Given the description of an element on the screen output the (x, y) to click on. 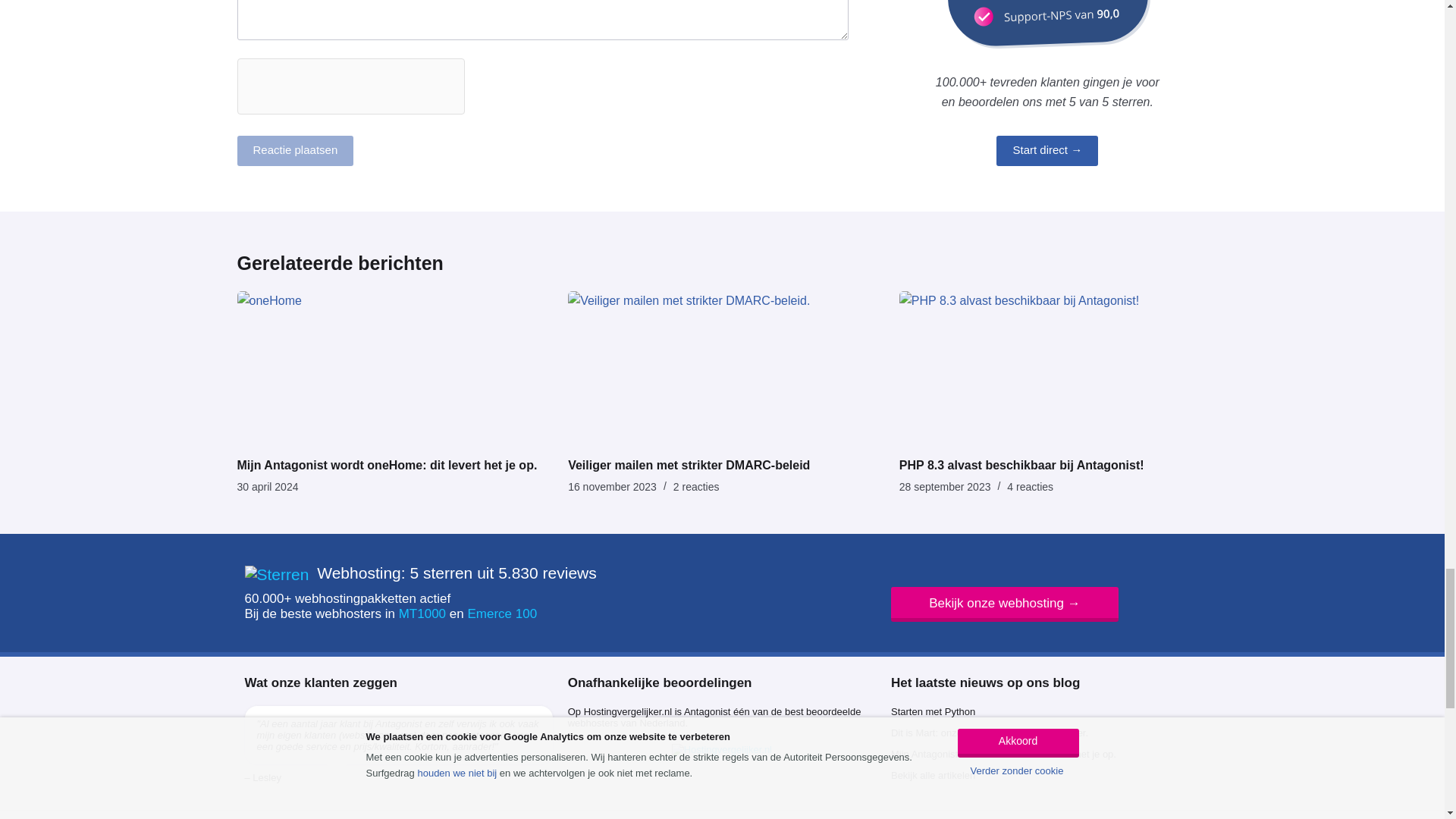
MT1000 (421, 613)
Emerce 100 (502, 613)
Kies je webhostingpakket (1004, 604)
Zie hoe Antagonist op Hostingvergelijker.nl wordt beoordeeld (721, 749)
Antagonist wordt met een 9,7 beoordeeld (276, 574)
